Given the description of an element on the screen output the (x, y) to click on. 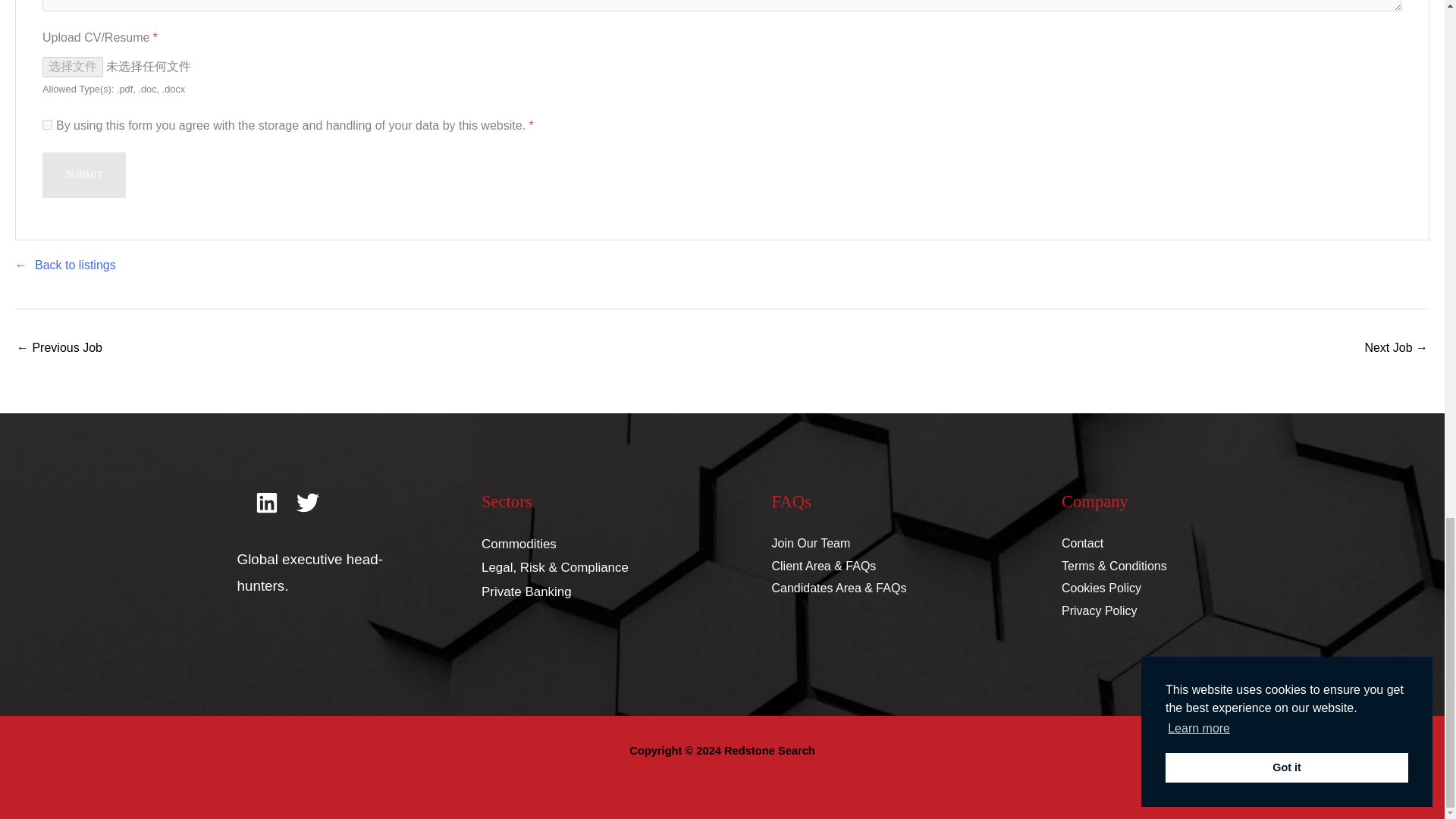
Submit (83, 175)
yes (47, 124)
